Given the description of an element on the screen output the (x, y) to click on. 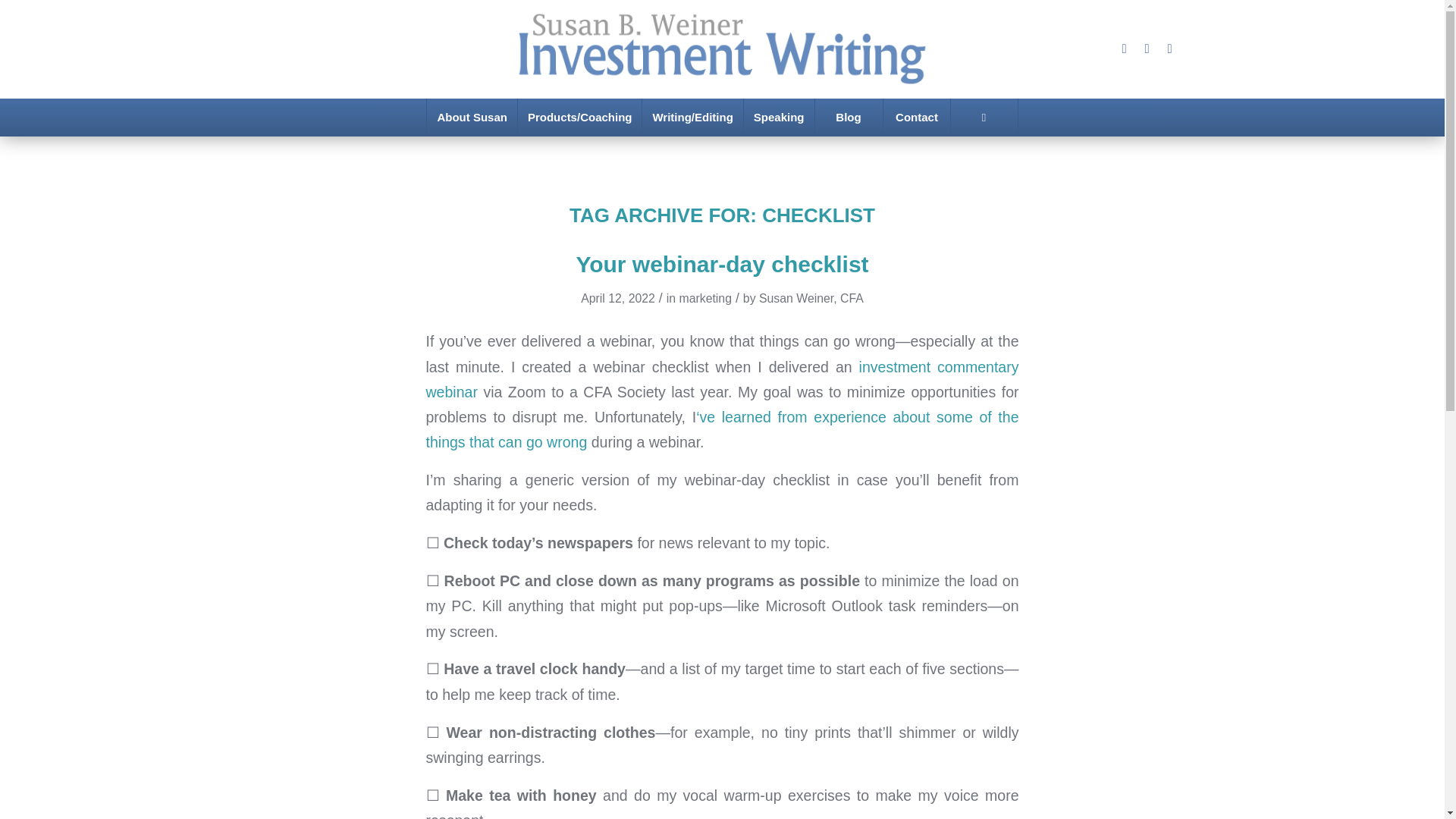
marketing (705, 297)
X (1146, 48)
Your webinar-day checklist (721, 263)
Contact (916, 117)
About Susan (471, 117)
Susan Weiner, CFA (810, 297)
Speaking (777, 117)
Facebook (1169, 48)
Permanent Link: Your webinar-day checklist (721, 263)
investment commentary webinar (722, 379)
